Given the description of an element on the screen output the (x, y) to click on. 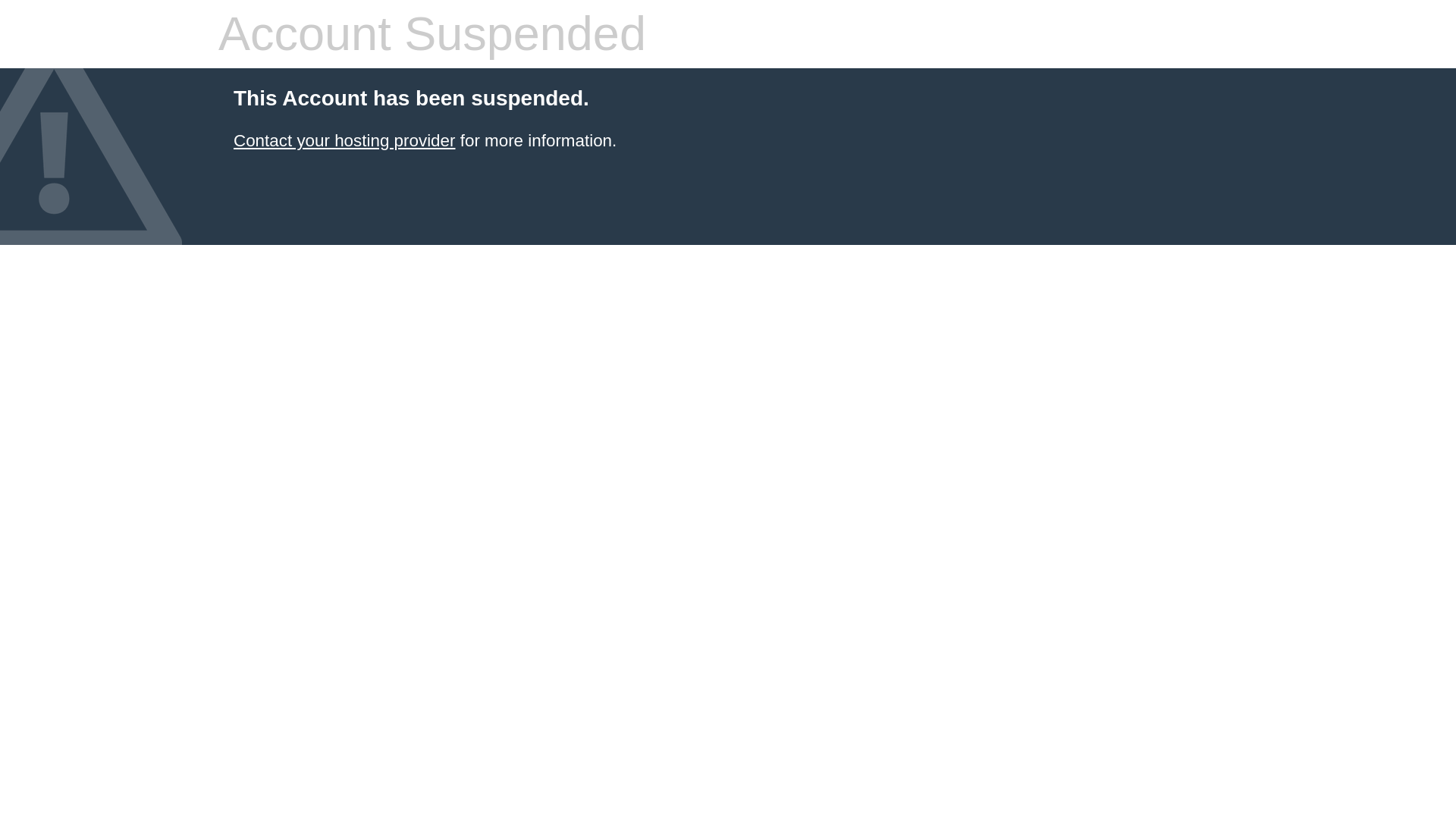
Contact your hosting provider (343, 140)
